Given the description of an element on the screen output the (x, y) to click on. 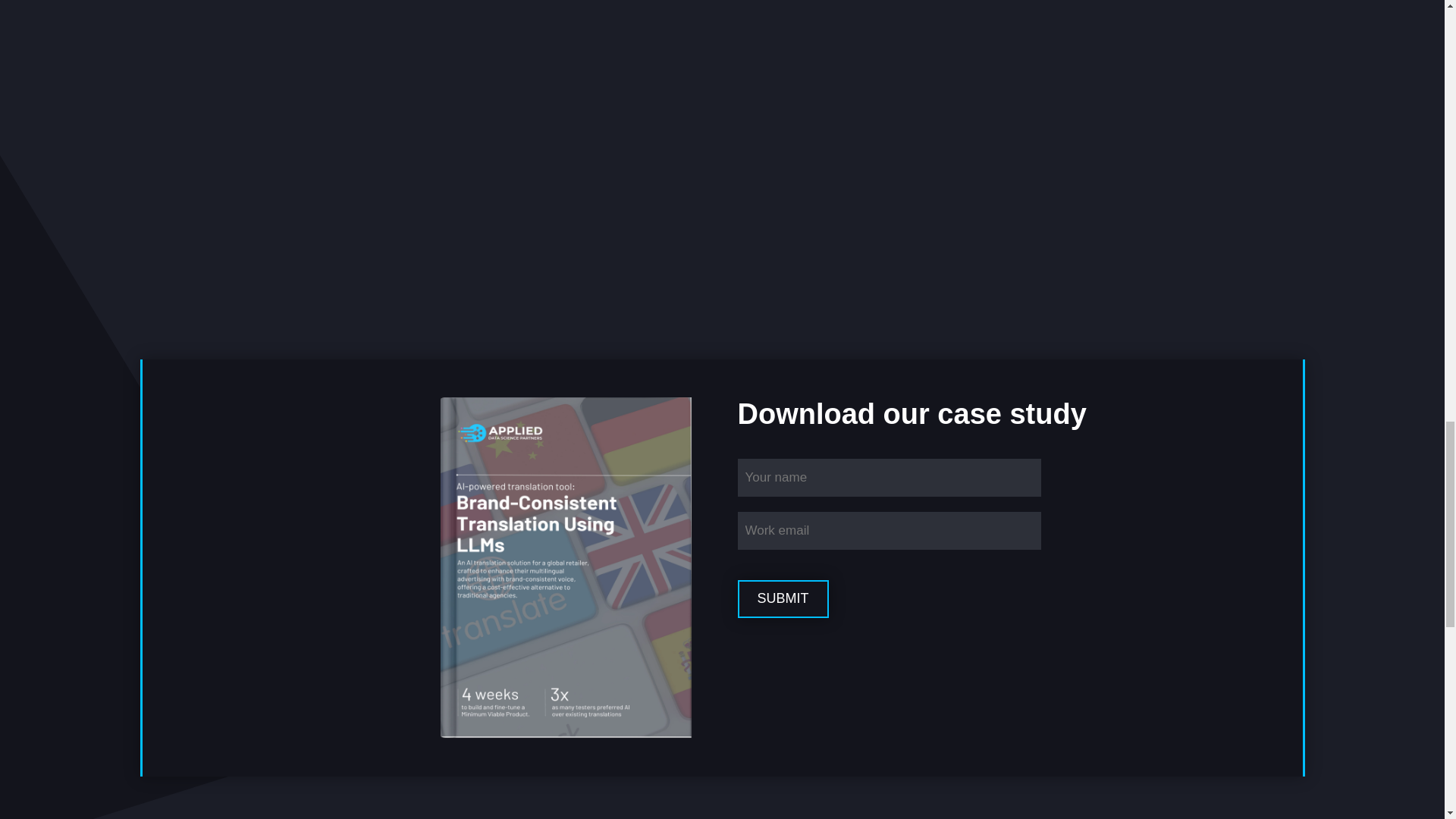
SUBMIT (782, 598)
